Given the description of an element on the screen output the (x, y) to click on. 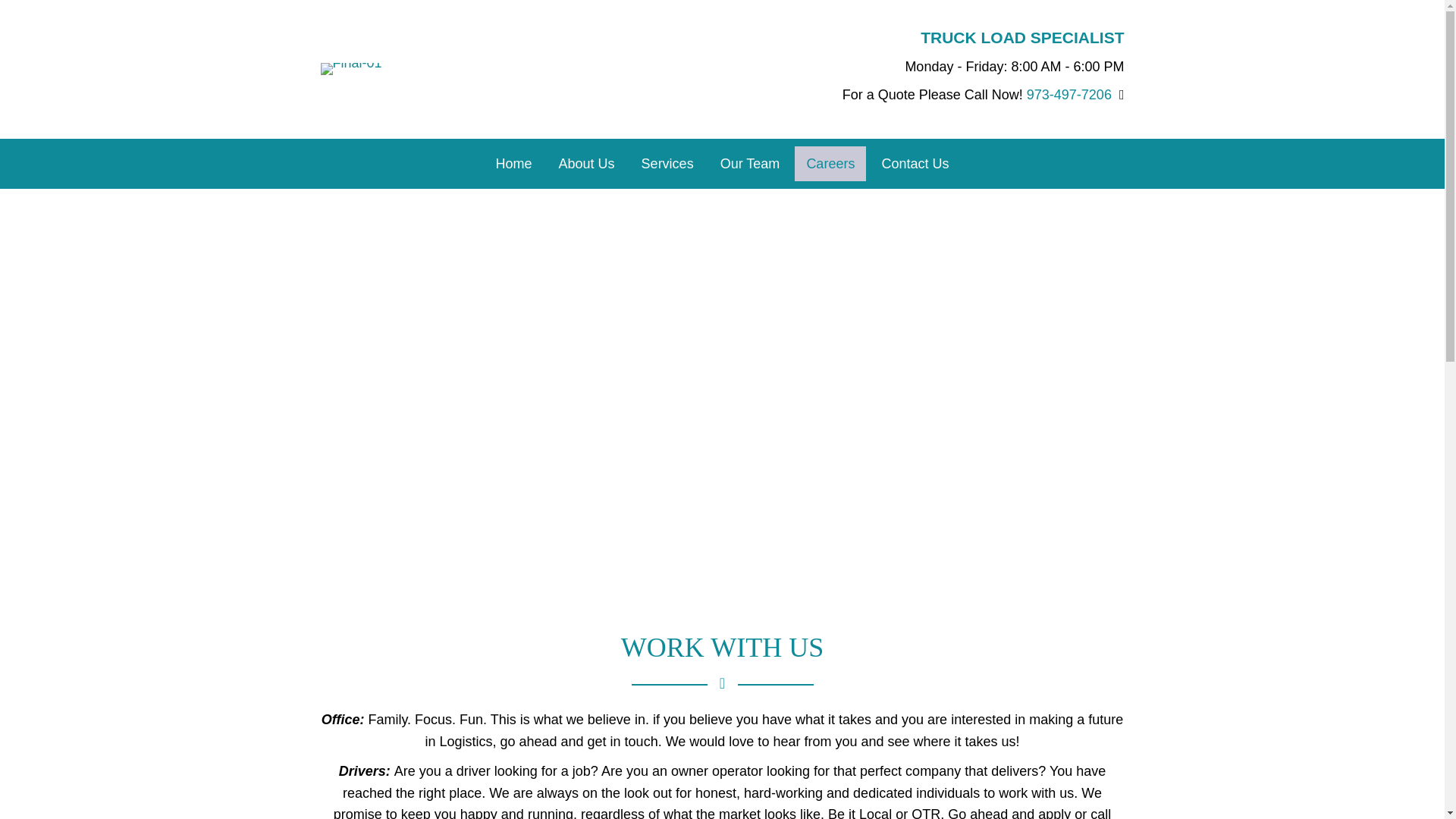
973-497-7206 (1069, 94)
Careers (830, 163)
About Us (586, 163)
Services (667, 163)
Home (513, 163)
Our Team (750, 163)
Contact Us (914, 163)
